Given the description of an element on the screen output the (x, y) to click on. 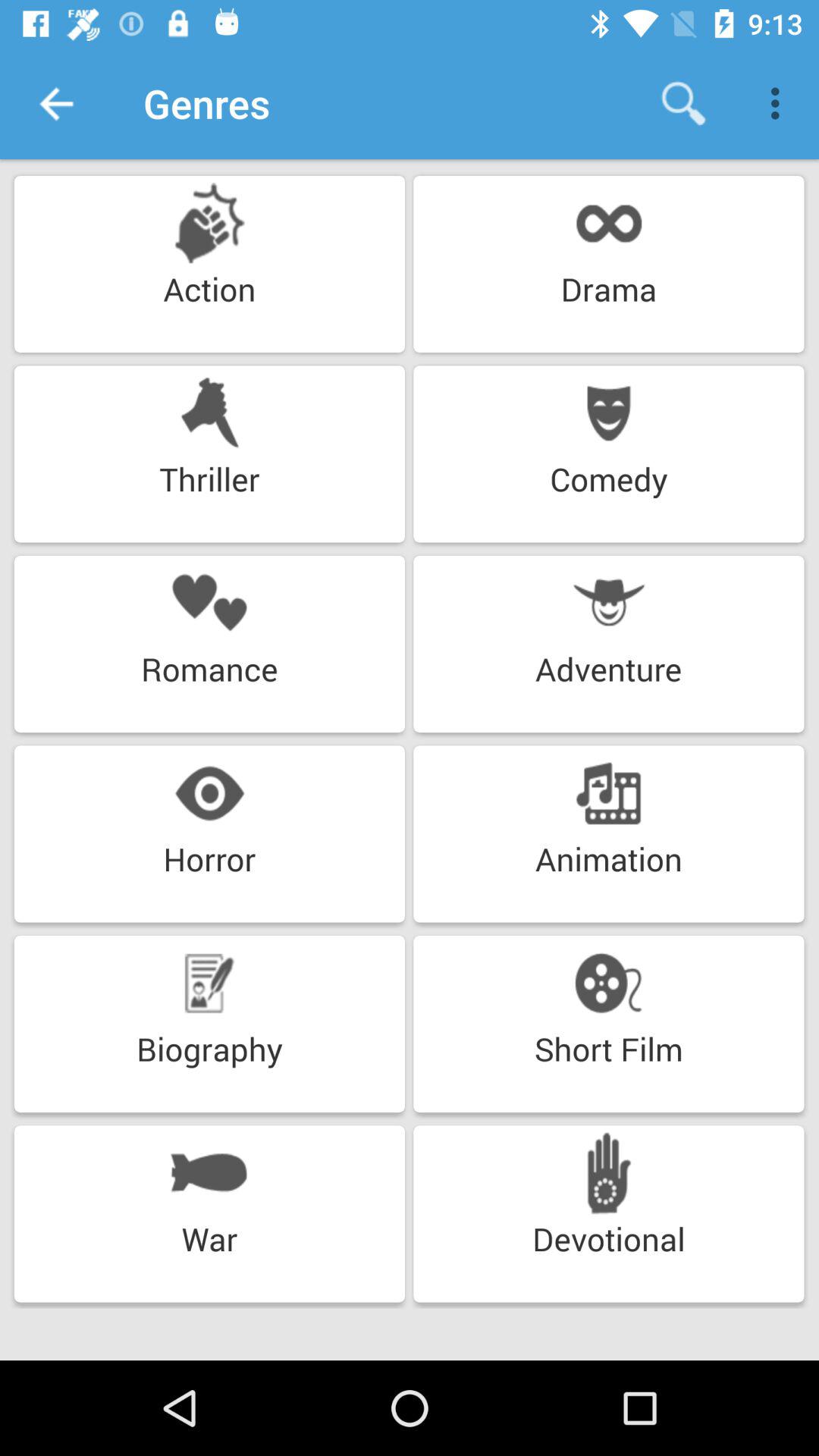
click the item above action icon (55, 103)
